Given the description of an element on the screen output the (x, y) to click on. 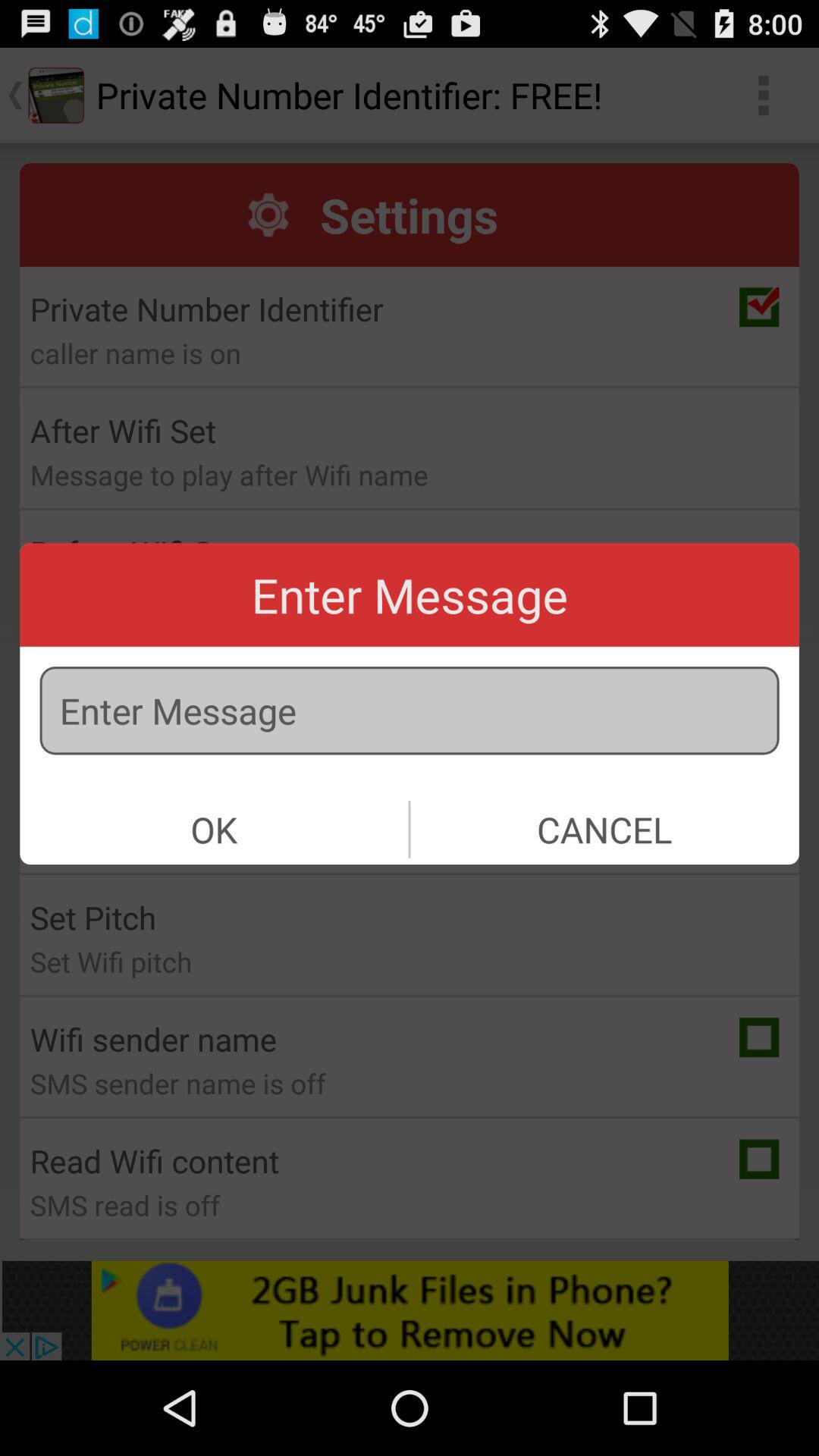
enter or type a message (409, 710)
